Given the description of an element on the screen output the (x, y) to click on. 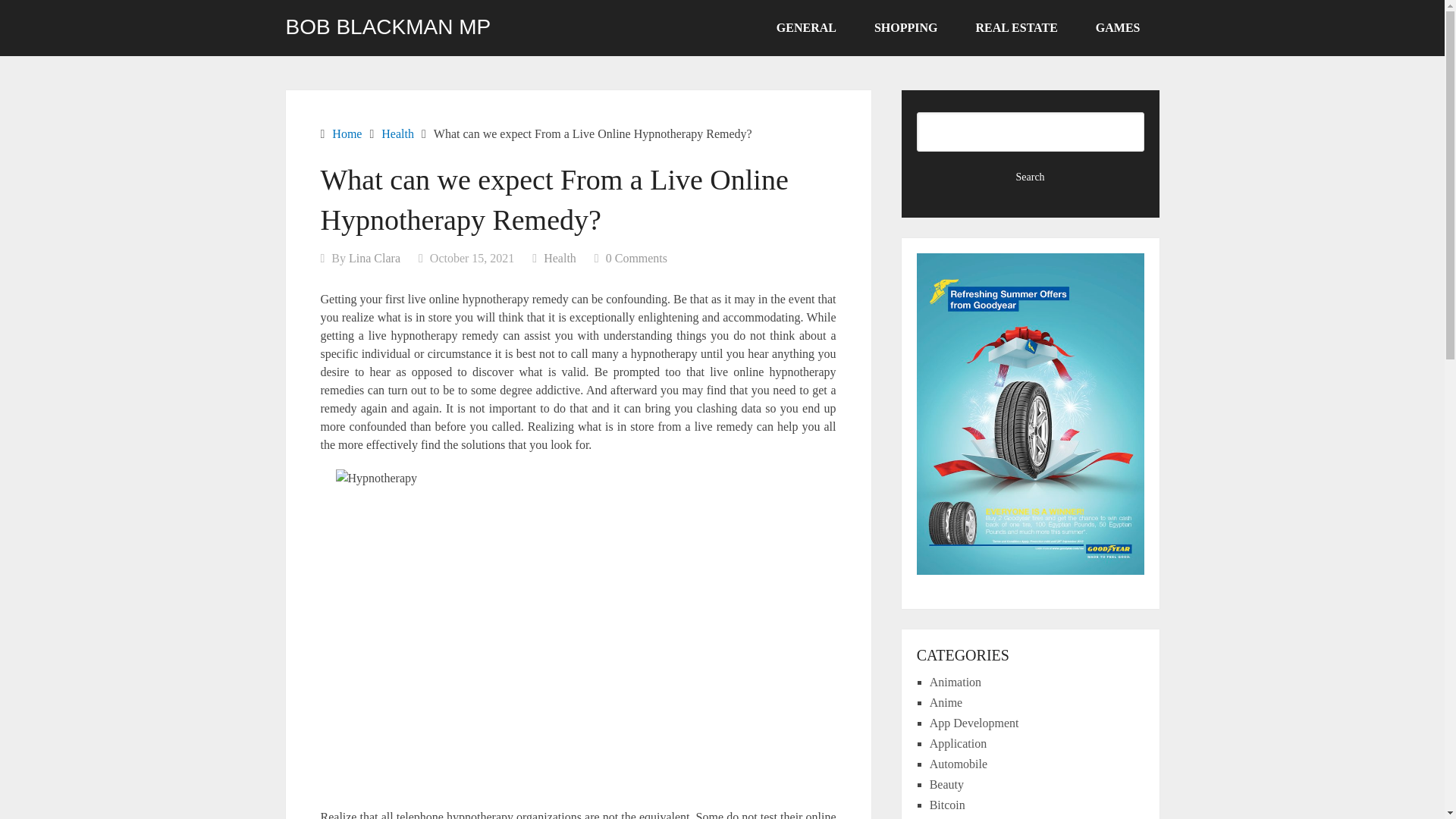
BOB BLACKMAN MP (387, 26)
Automobile (958, 763)
Application (958, 743)
Beauty (946, 784)
GAMES (1117, 28)
Home (346, 133)
Search (1030, 176)
Animation (955, 681)
Lina Clara (374, 257)
0 Comments (635, 257)
